Given the description of an element on the screen output the (x, y) to click on. 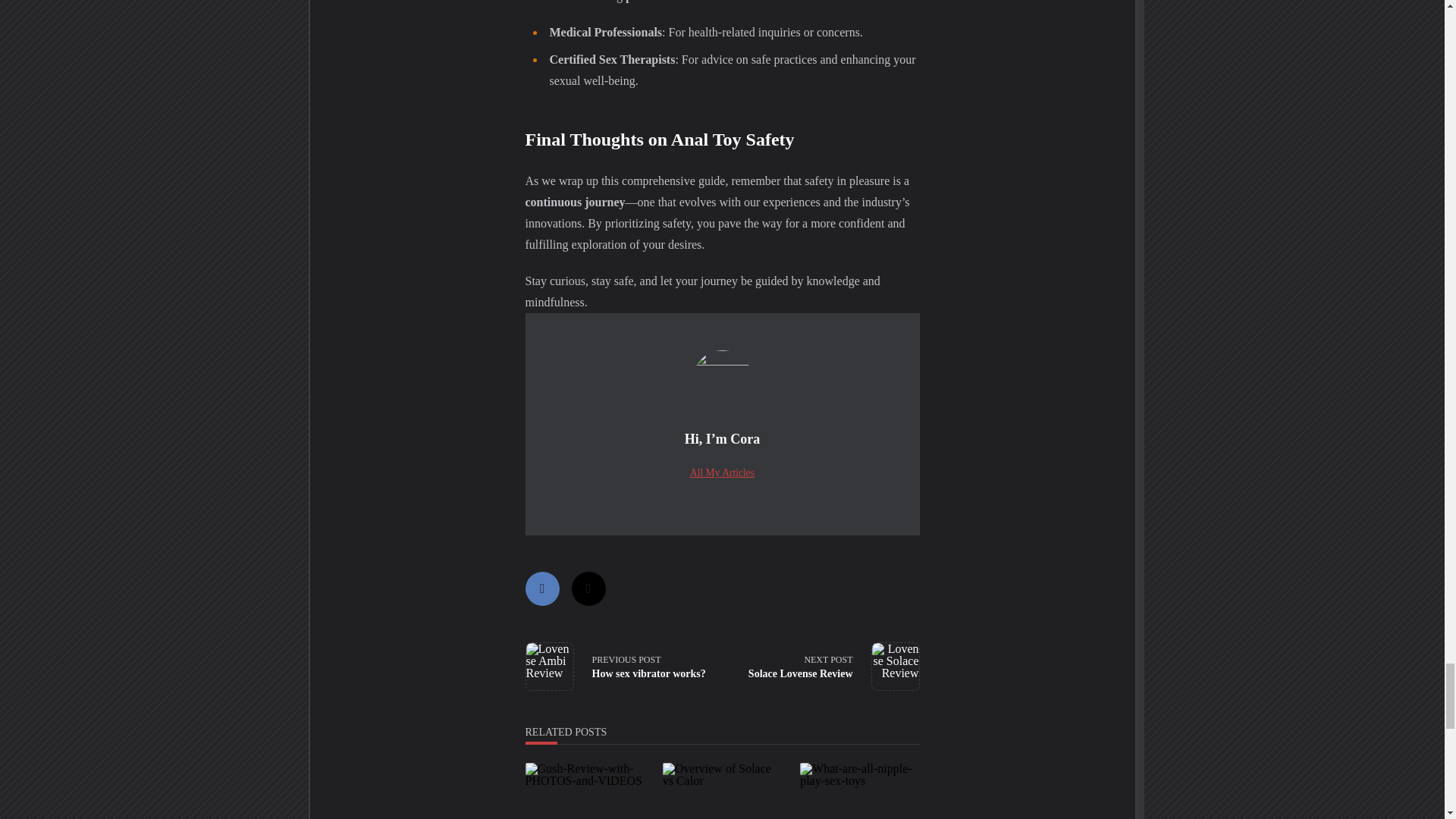
All My Articles (617, 666)
